Given the description of an element on the screen output the (x, y) to click on. 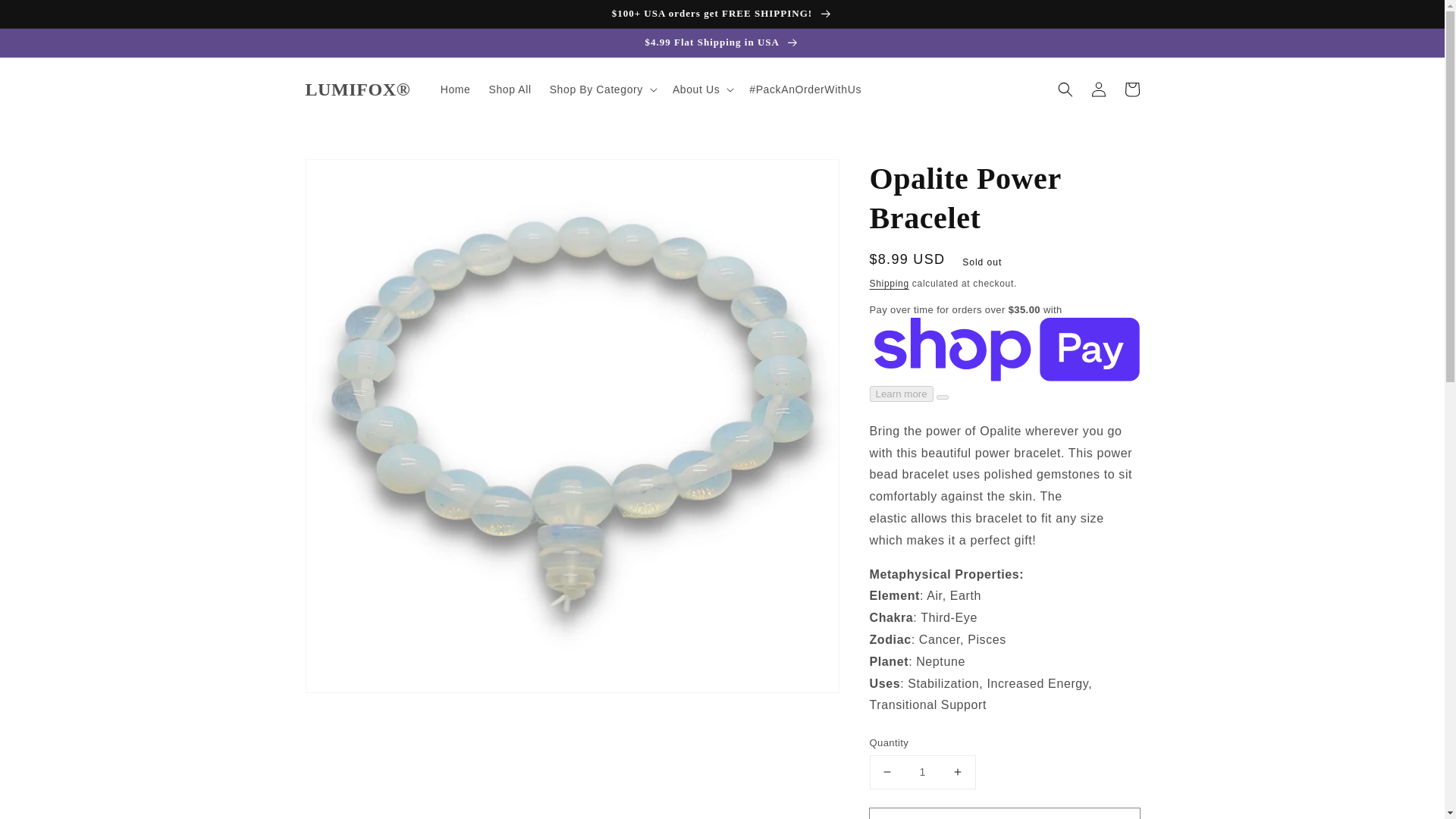
1 (922, 771)
Shop All (509, 89)
Skip to content (45, 16)
Home (455, 89)
